Given the description of an element on the screen output the (x, y) to click on. 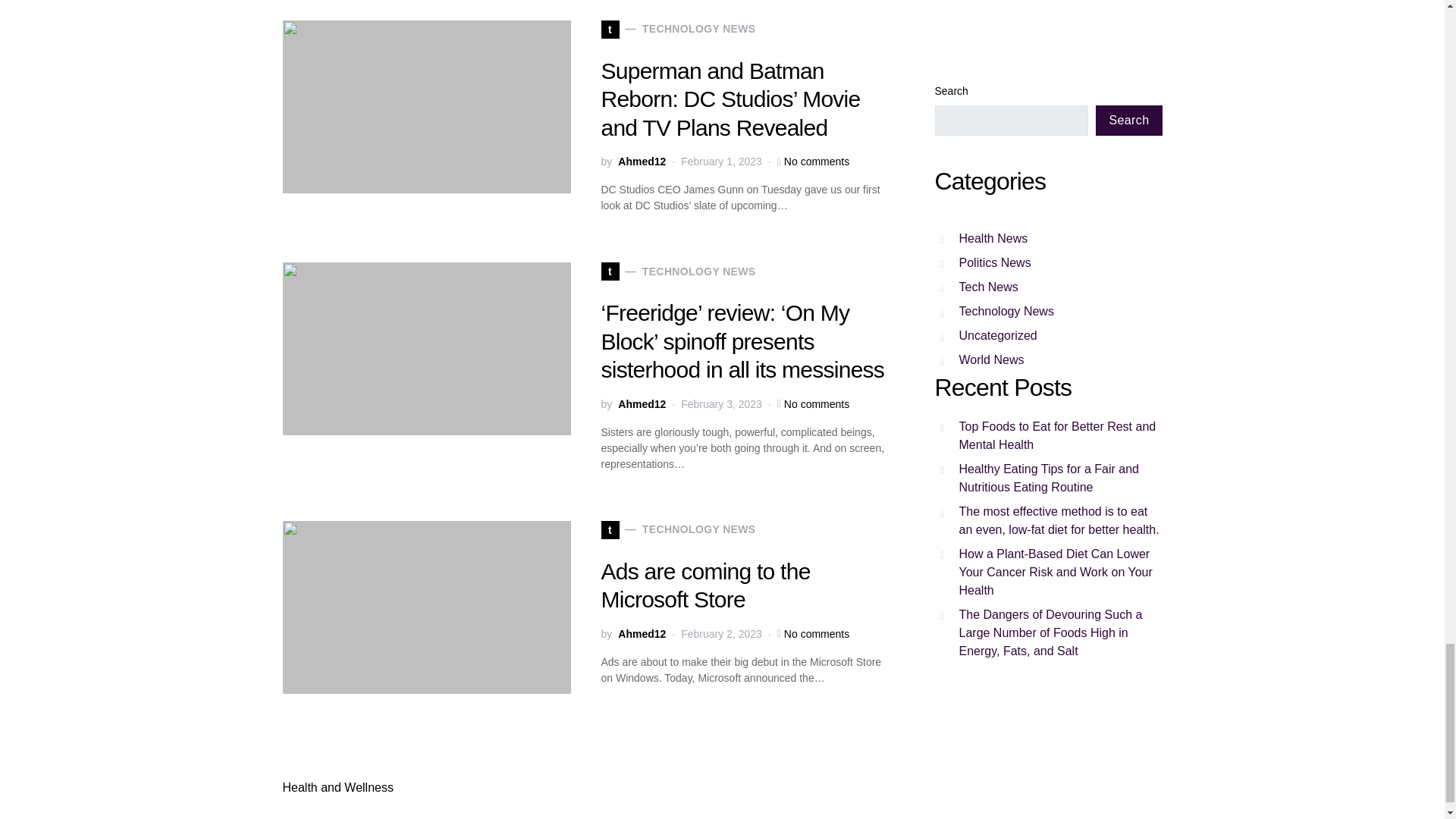
View all posts by Ahmed12 (641, 404)
View all posts by Ahmed12 (641, 161)
View all posts by Ahmed12 (641, 634)
